Given the description of an element on the screen output the (x, y) to click on. 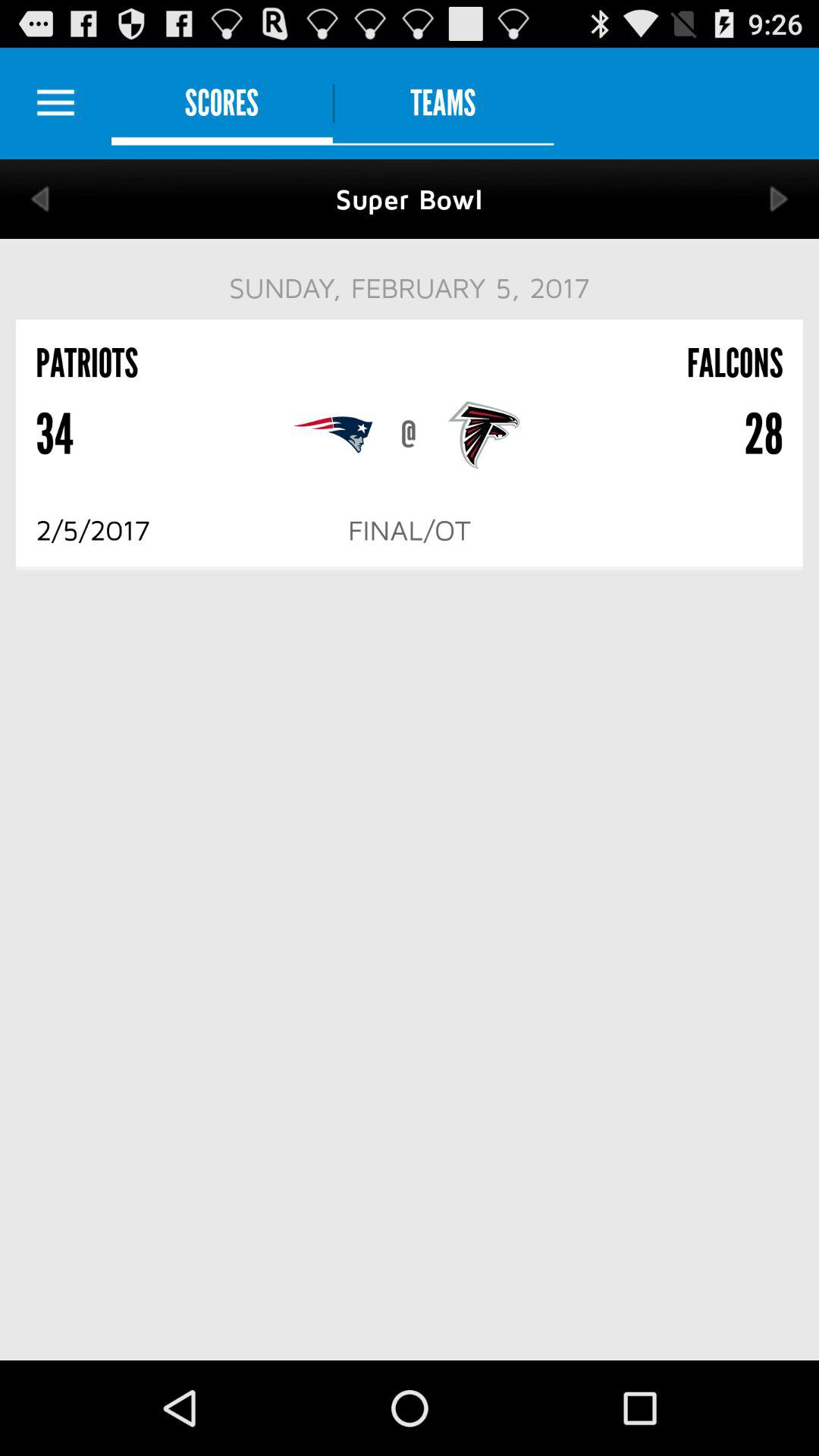
setting the option (55, 103)
